Given the description of an element on the screen output the (x, y) to click on. 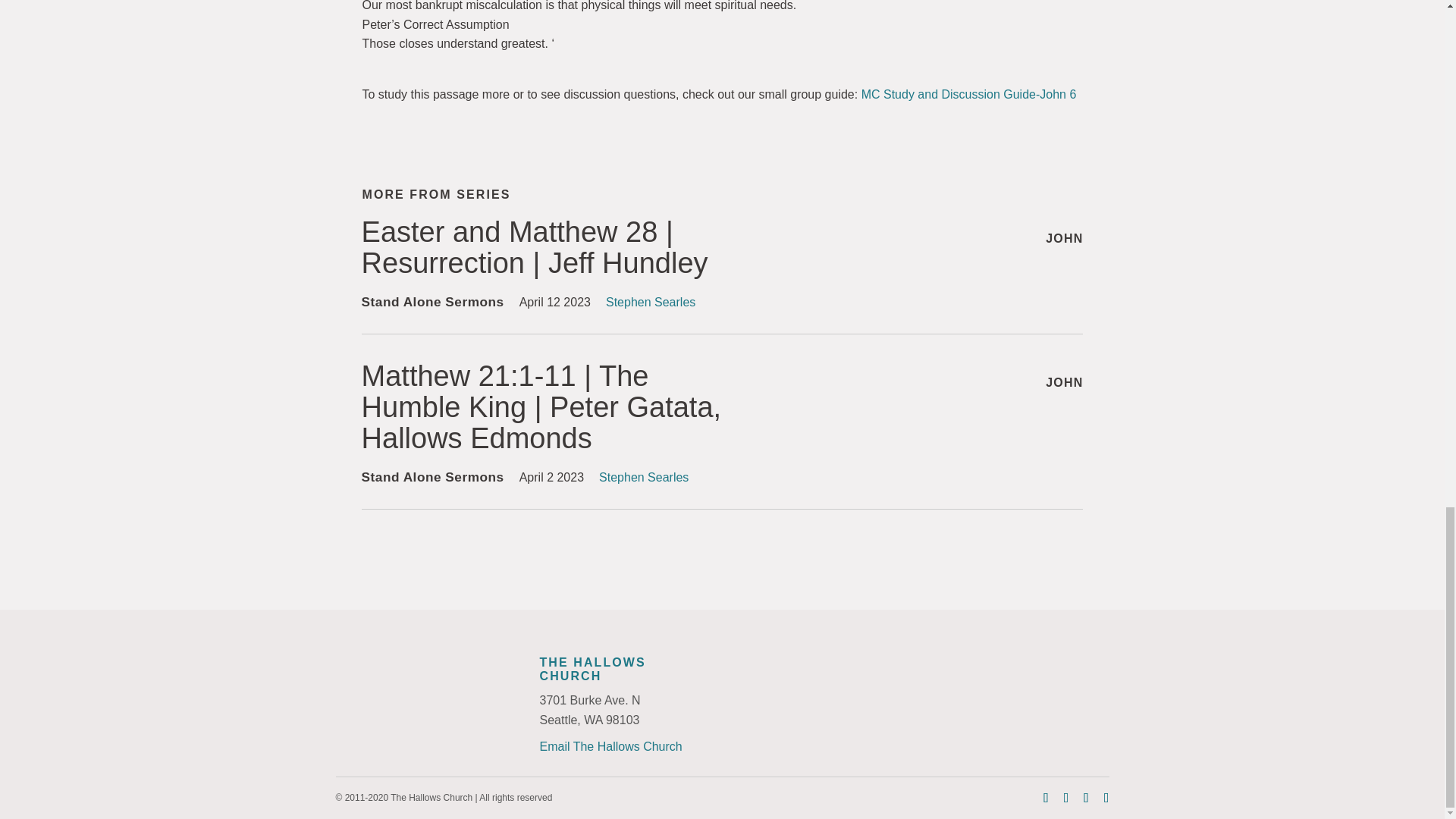
Stephen Searles (650, 301)
Stephen Searles (643, 477)
Email The Hallows Church (611, 746)
Stand Alone Sermons (432, 301)
THE HALLOWS CHURCH (593, 669)
Stand Alone Sermons (432, 476)
MC Study and Discussion Guide-John 6 (969, 93)
